Given the description of an element on the screen output the (x, y) to click on. 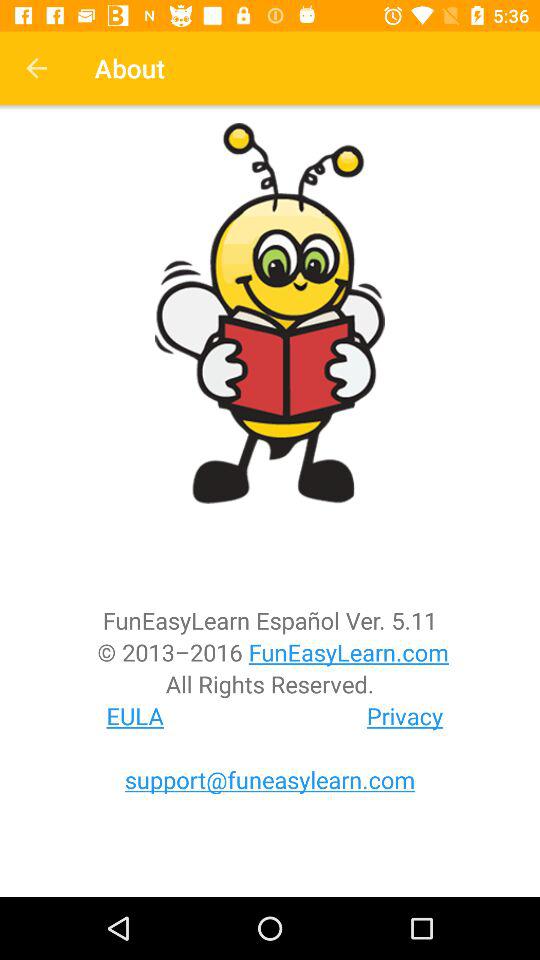
press eula item (135, 715)
